Given the description of an element on the screen output the (x, y) to click on. 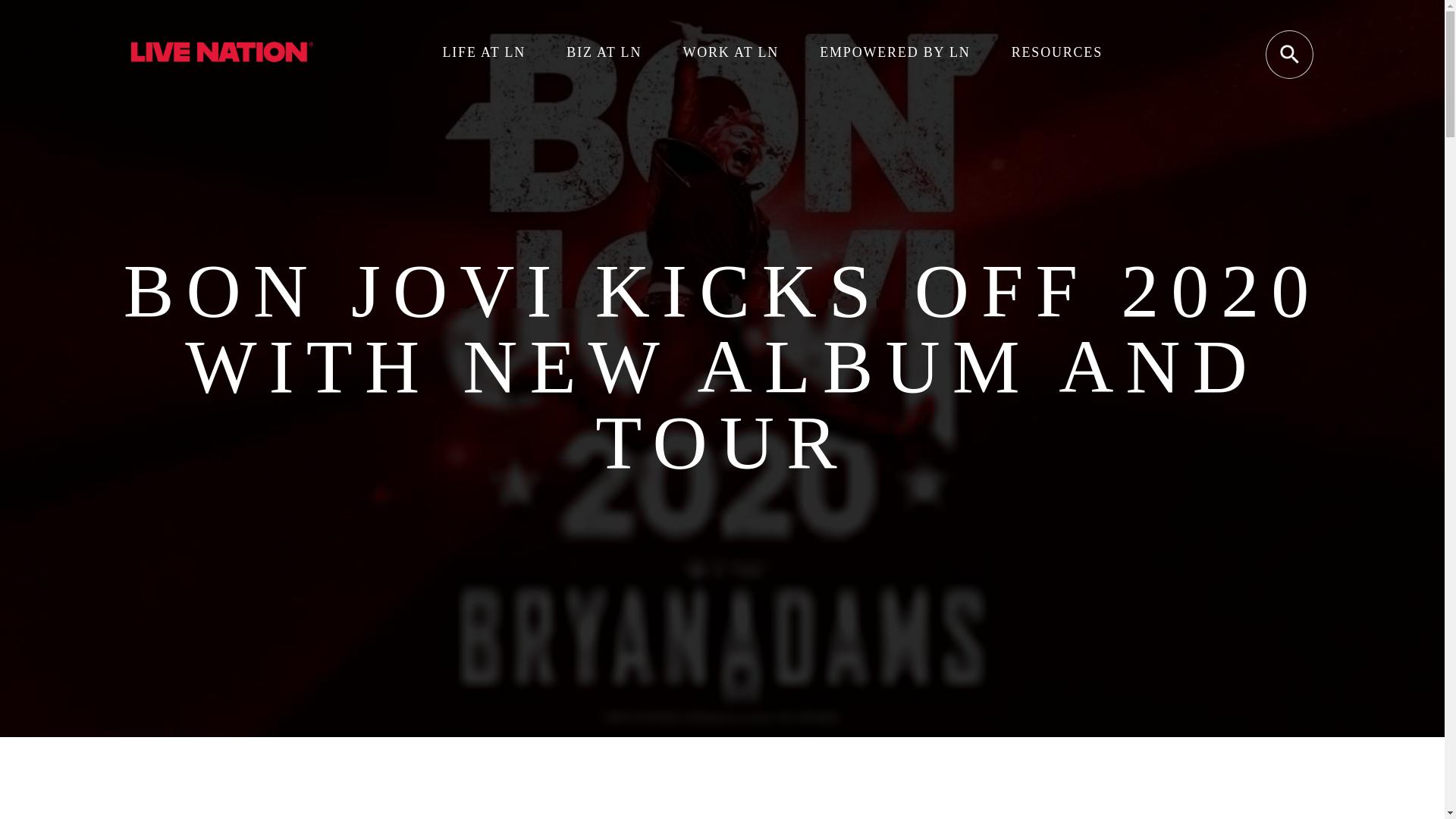
LIFE AT LN (483, 51)
EMPOWERED BY LN (894, 51)
Live Nation Entertainment (222, 56)
WORK AT LN (730, 51)
RESOURCES (1056, 51)
BIZ AT LN (604, 51)
